Given the description of an element on the screen output the (x, y) to click on. 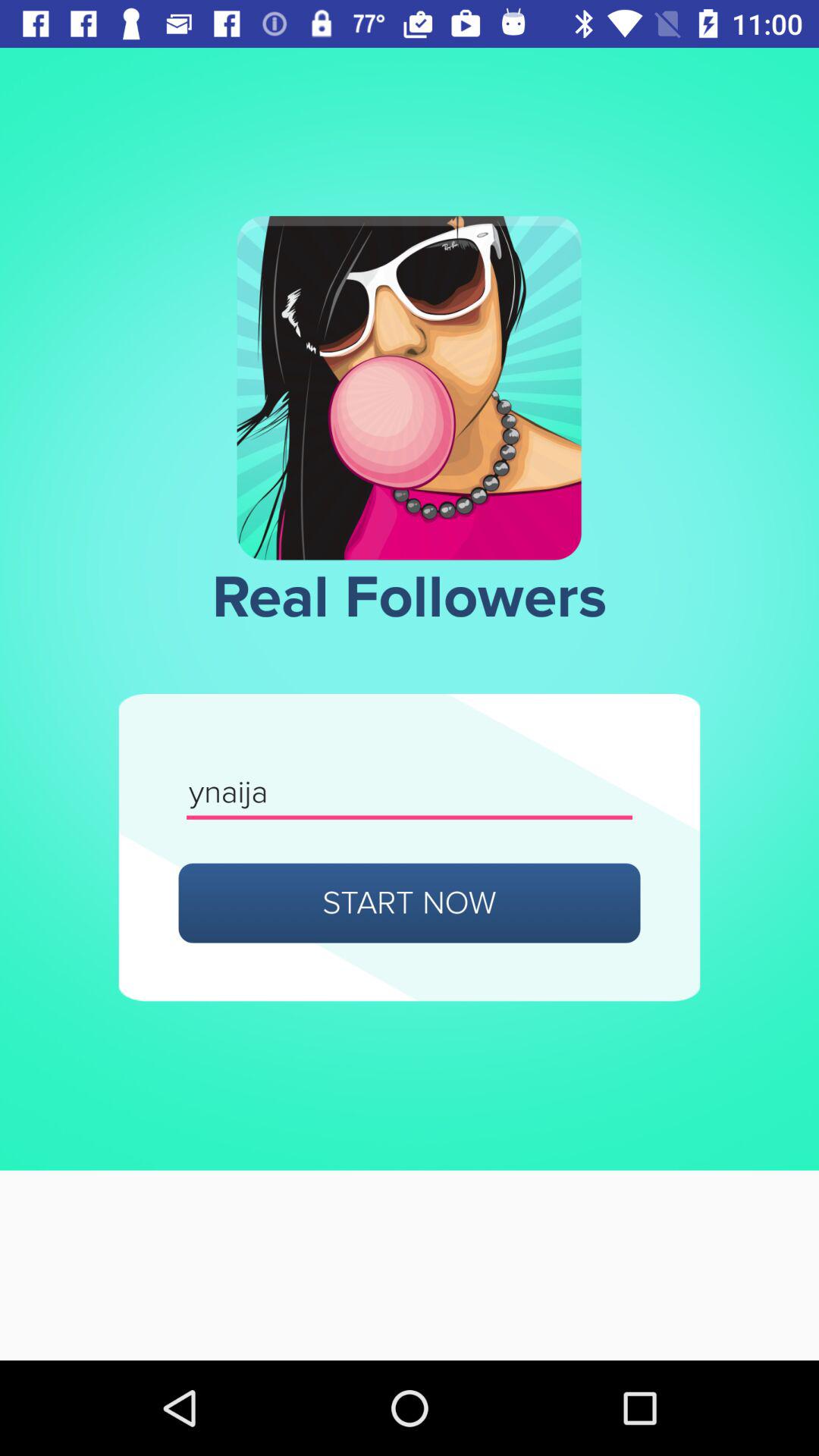
click the icon above the start now icon (409, 793)
